Given the description of an element on the screen output the (x, y) to click on. 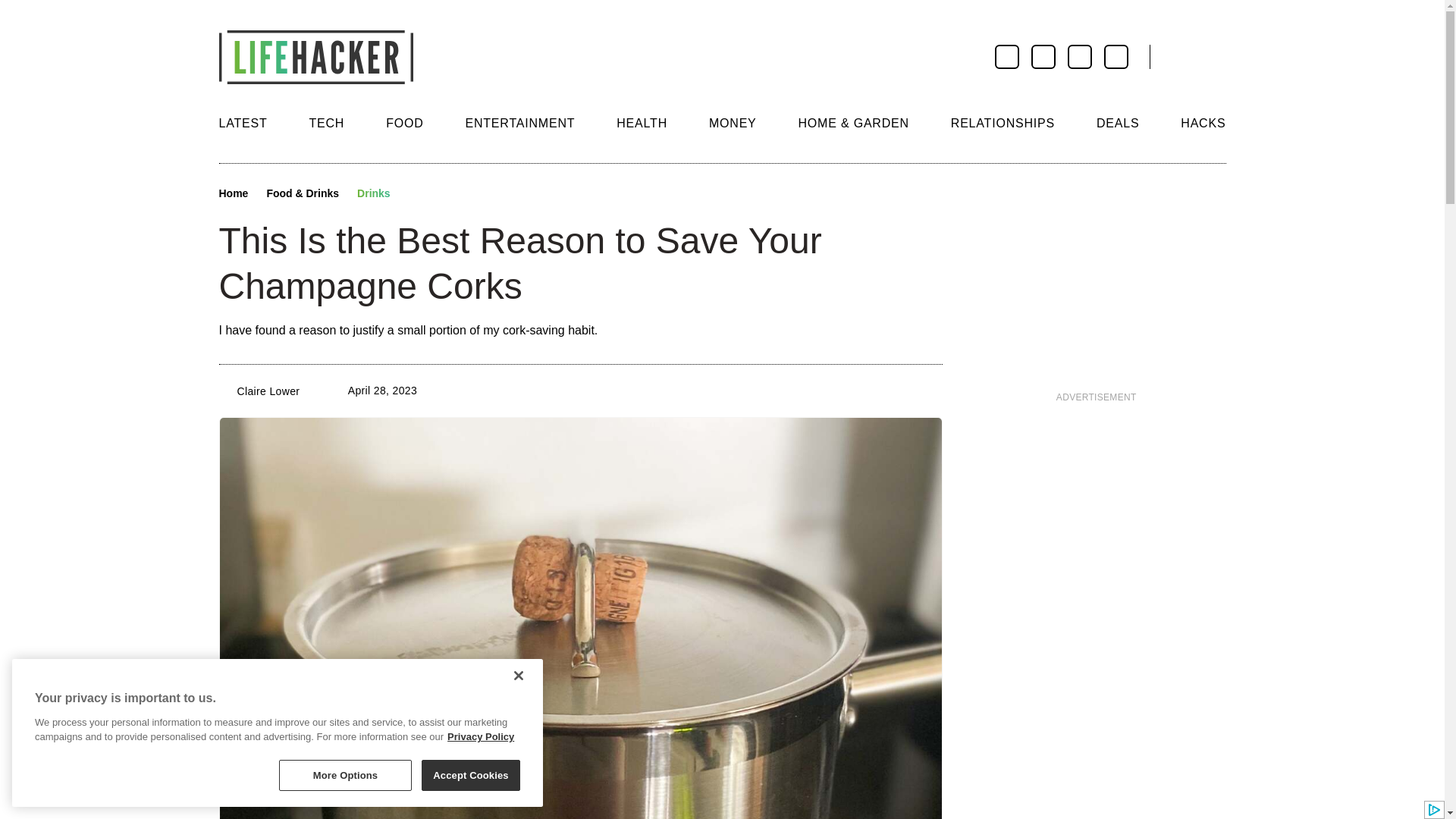
DEALS (1117, 123)
Home (232, 193)
Drinks (373, 193)
FOOD (404, 123)
MONEY (733, 123)
HEALTH (640, 123)
TECH (325, 123)
HACKS (1202, 123)
Social Share (416, 193)
LATEST (242, 123)
